Given the description of an element on the screen output the (x, y) to click on. 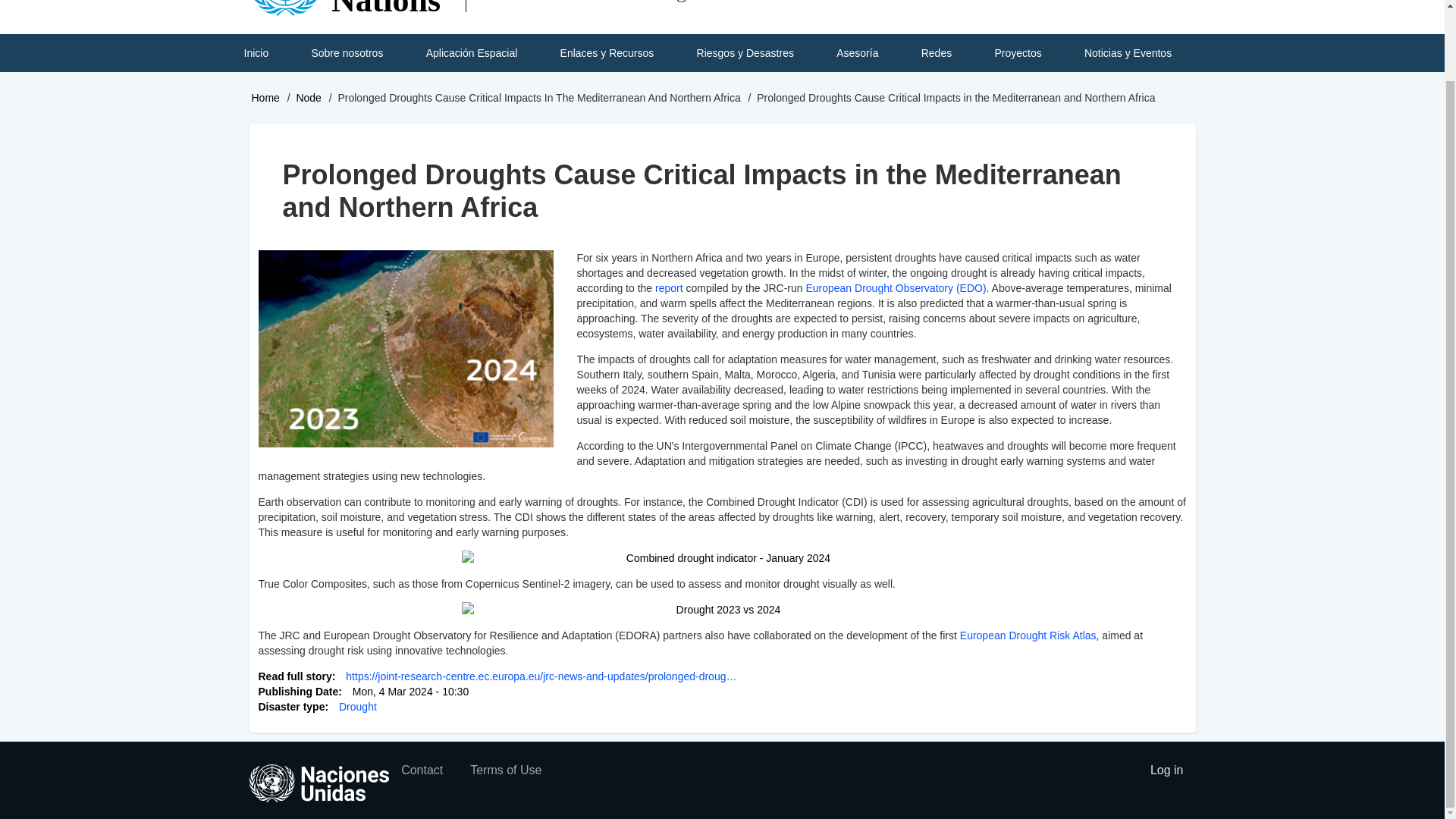
Inicio (255, 53)
Riesgos y Desastres (745, 53)
Sobre nosotros (347, 53)
Enlaces y Recursos (607, 53)
